Given the description of an element on the screen output the (x, y) to click on. 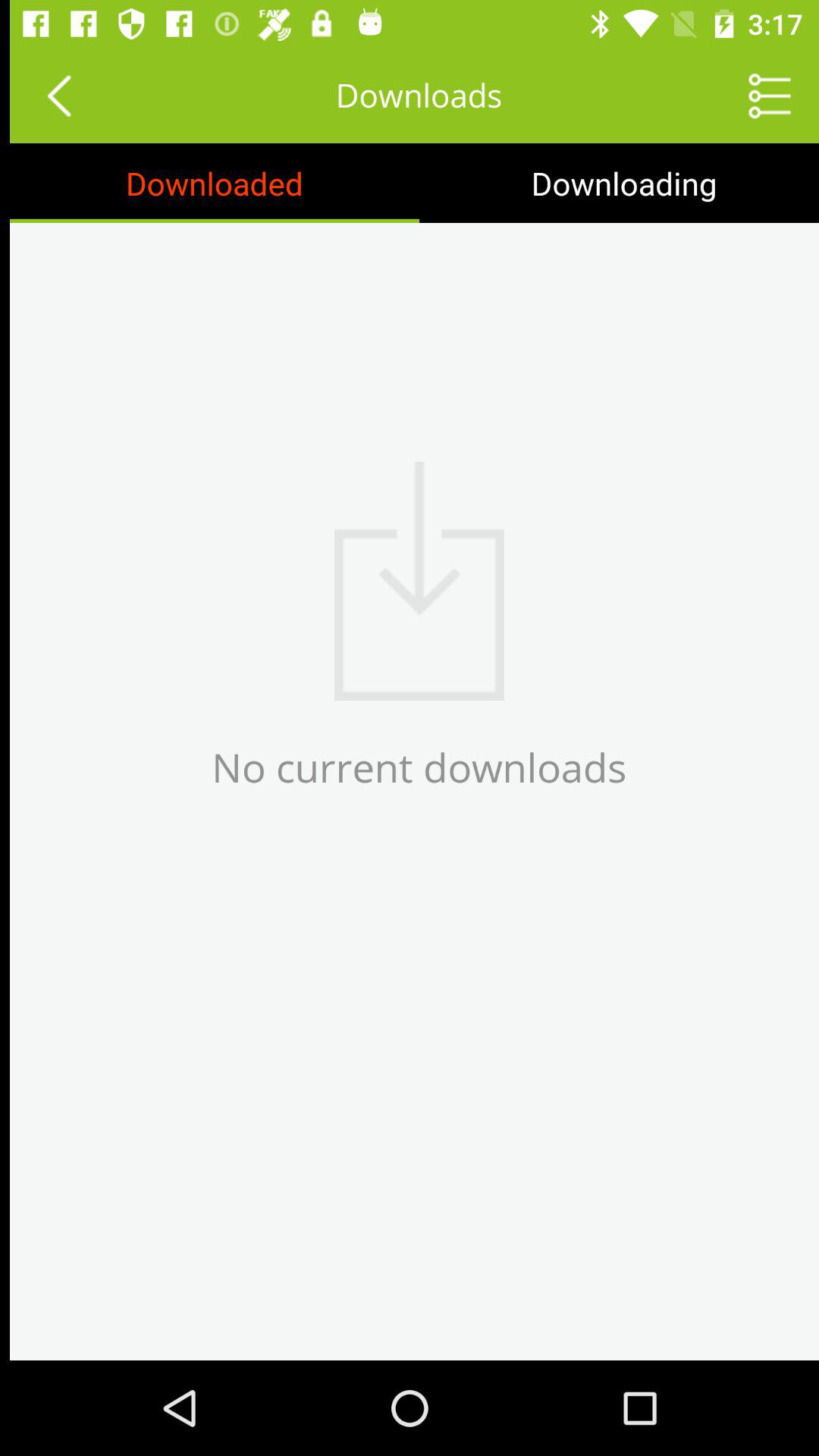
go to settings (759, 95)
